Given the description of an element on the screen output the (x, y) to click on. 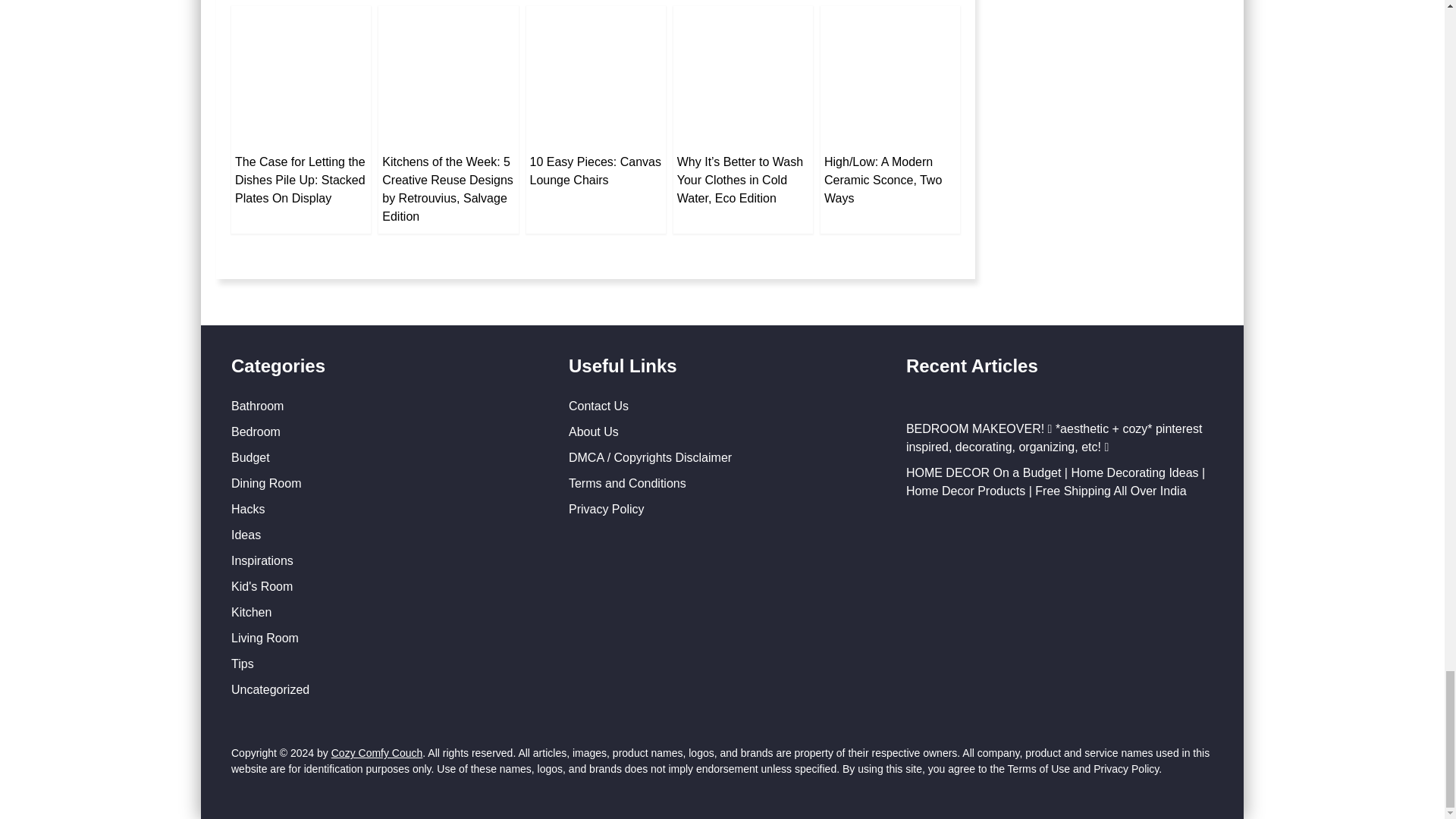
10 Easy Pieces: Canvas Lounge Chairs (595, 75)
10 Easy Pieces: Canvas Lounge Chairs (595, 170)
